Given the description of an element on the screen output the (x, y) to click on. 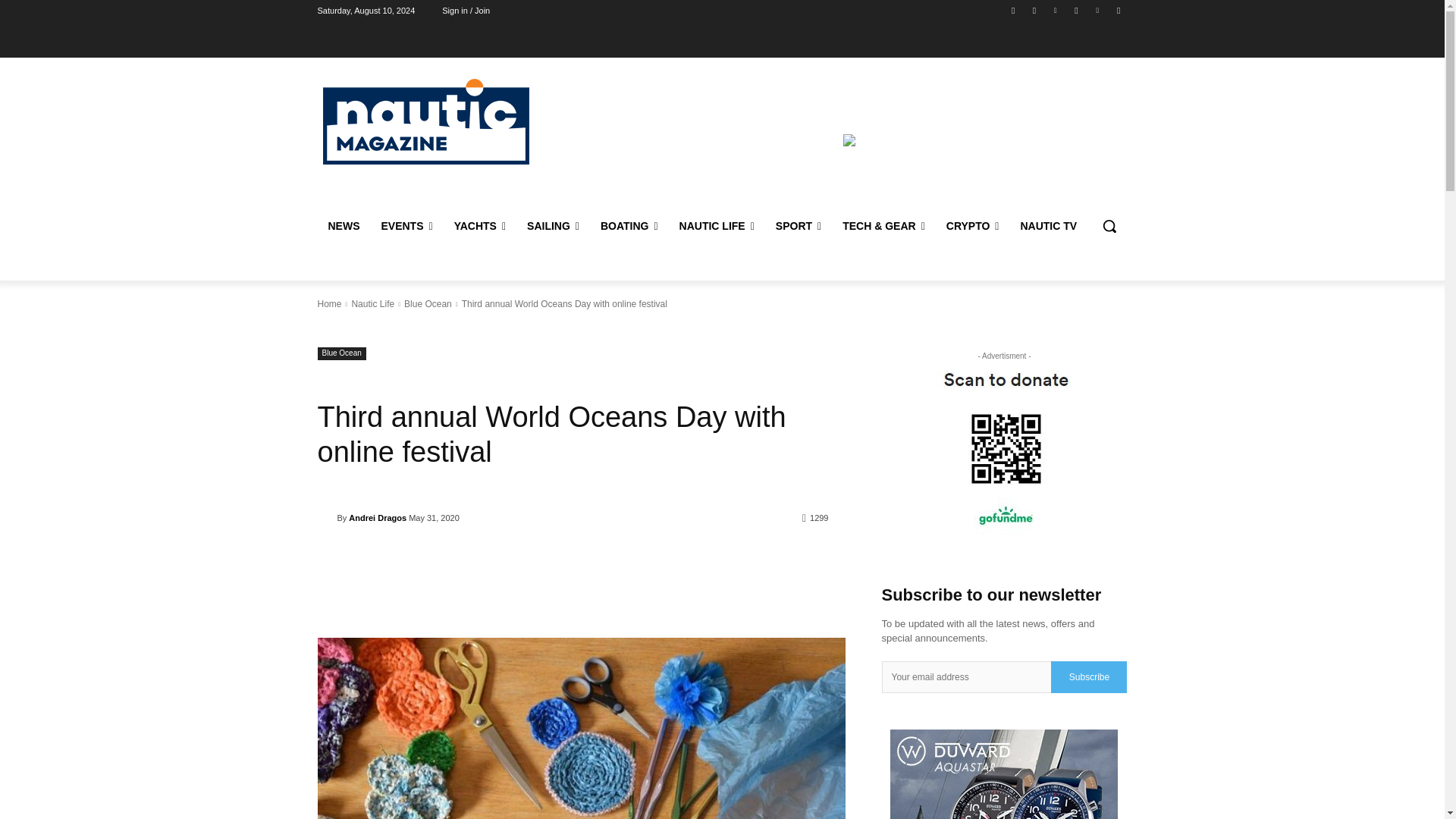
Facebook (1013, 9)
Vimeo (1097, 9)
Instagram (1034, 9)
Twitter (1075, 9)
Linkedin (1055, 9)
Youtube (1117, 9)
